Given the description of an element on the screen output the (x, y) to click on. 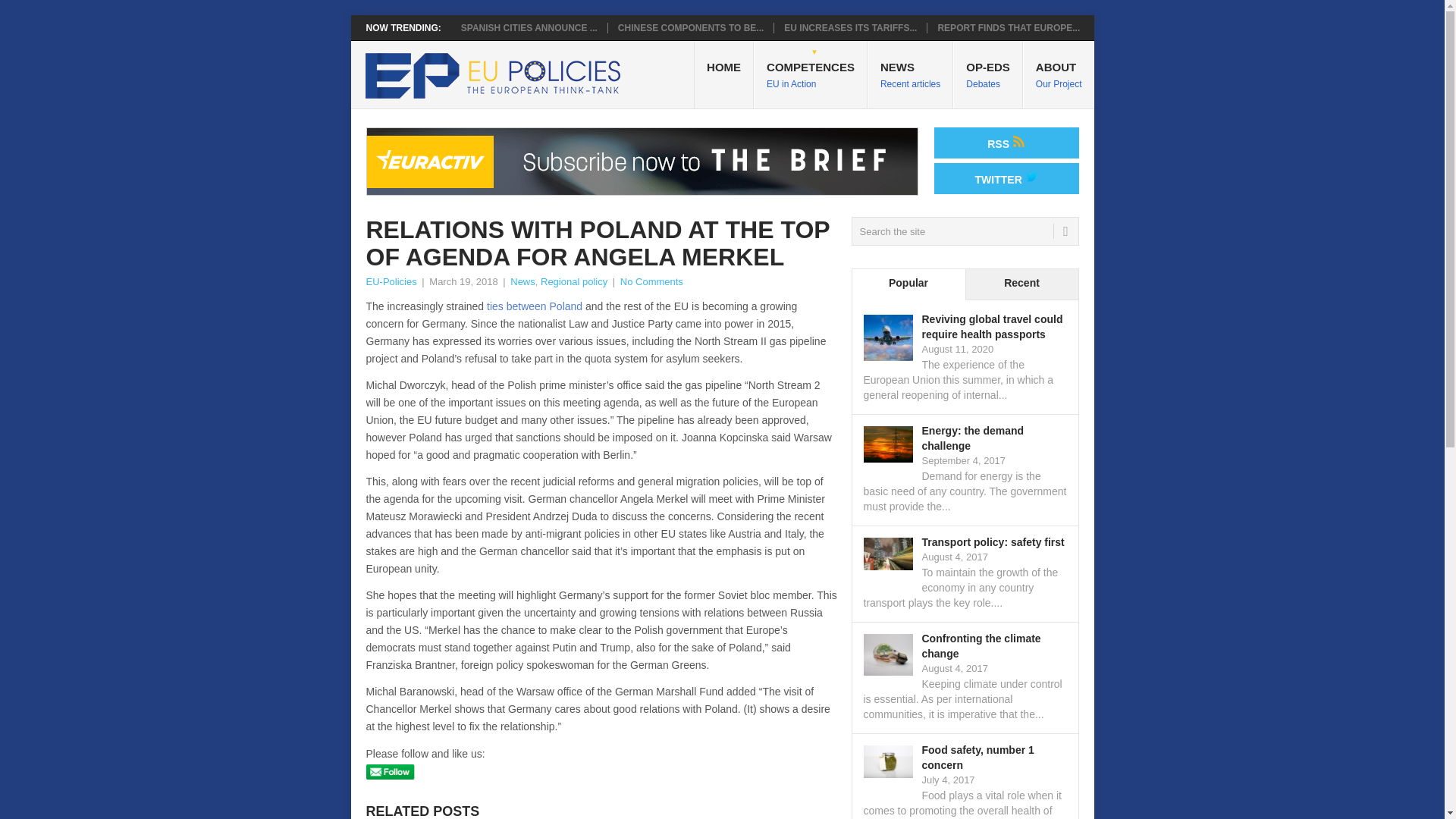
News (810, 74)
ties between Poland (523, 281)
Posts by EU-Policies (534, 306)
EU-Policies (390, 281)
EU INCREASES ITS TARIFFS... (390, 281)
SPANISH CITIES ANNOUNCE ... (850, 27)
CHINESE COMPONENTS TO BE... (988, 74)
Reviving global travel could require health passports (528, 27)
REPORT FINDS THAT EUROPE... (689, 27)
Regional policy (1058, 74)
